Given the description of an element on the screen output the (x, y) to click on. 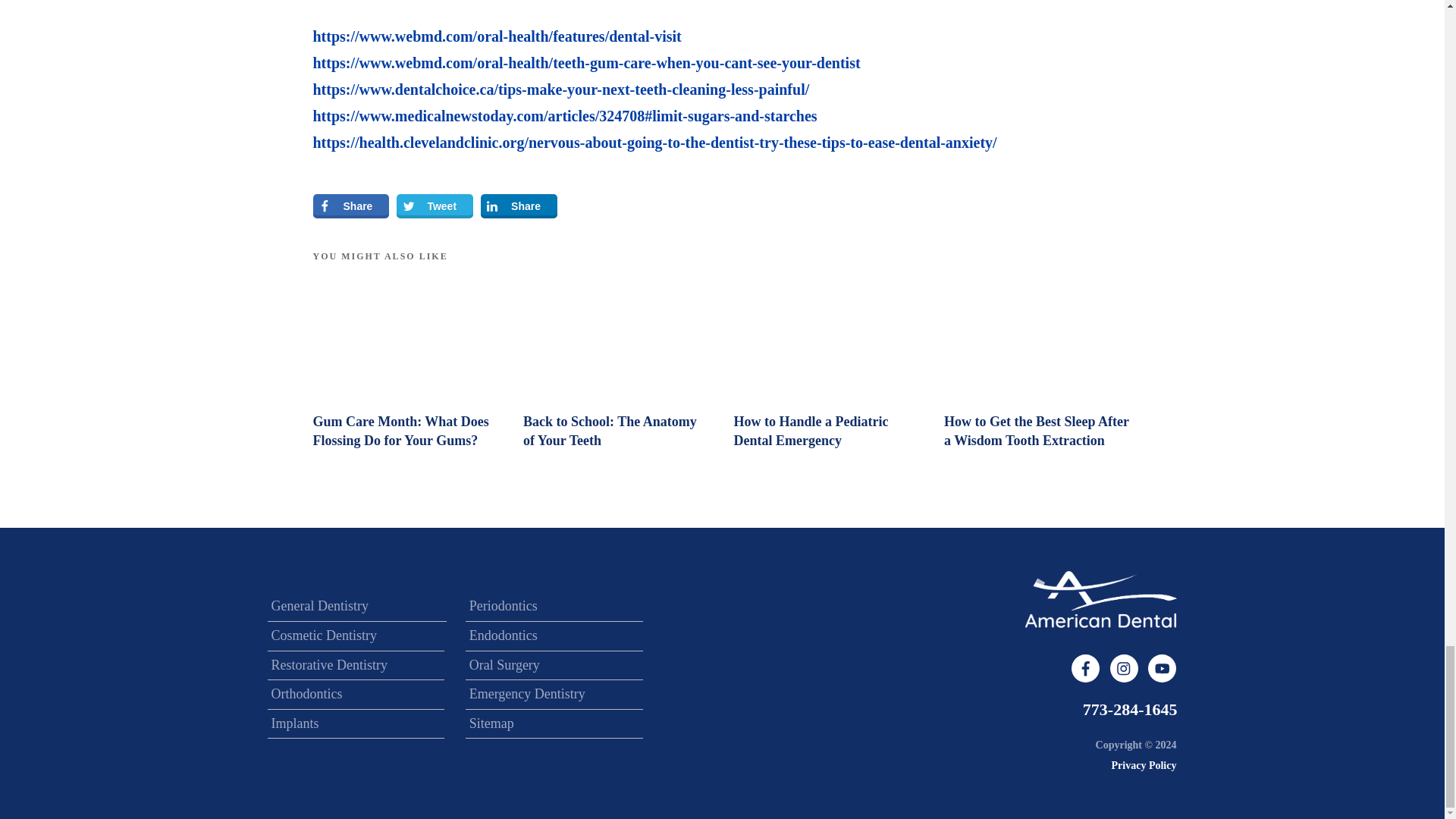
Back to School: The Anatomy of Your Teeth (609, 430)
Gum Care Month: What Does Flossing Do for Your Gums? (400, 430)
How to Handle a Pediatric Dental Emergency (810, 430)
AmericanDental-logo-white (1100, 599)
How to Get the Best Sleep After a Wisdom Tooth Extraction (1036, 430)
